Given the description of an element on the screen output the (x, y) to click on. 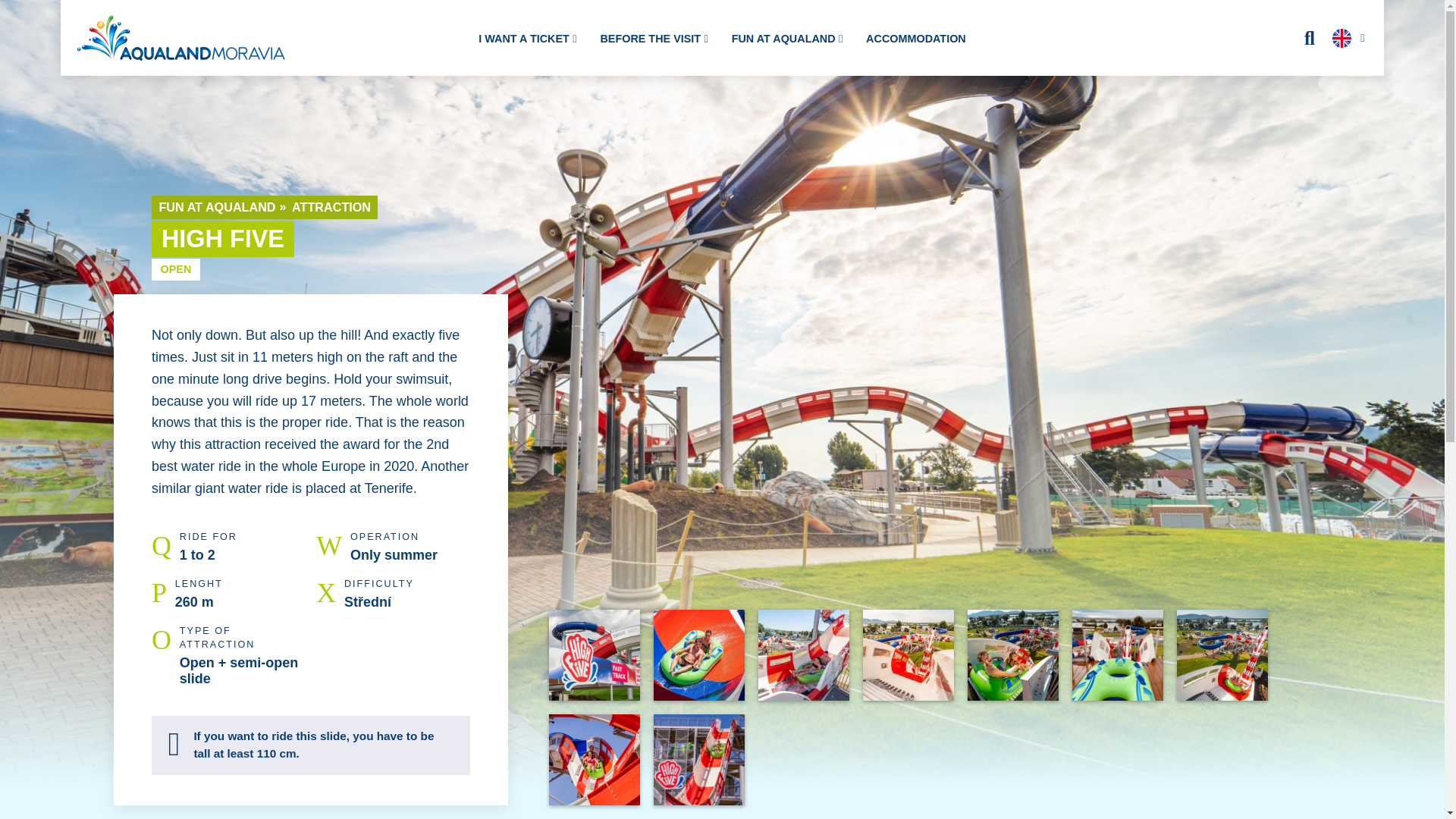
BEFORE THE VISIT (653, 38)
FUN AT AQUALAND (786, 38)
